Given the description of an element on the screen output the (x, y) to click on. 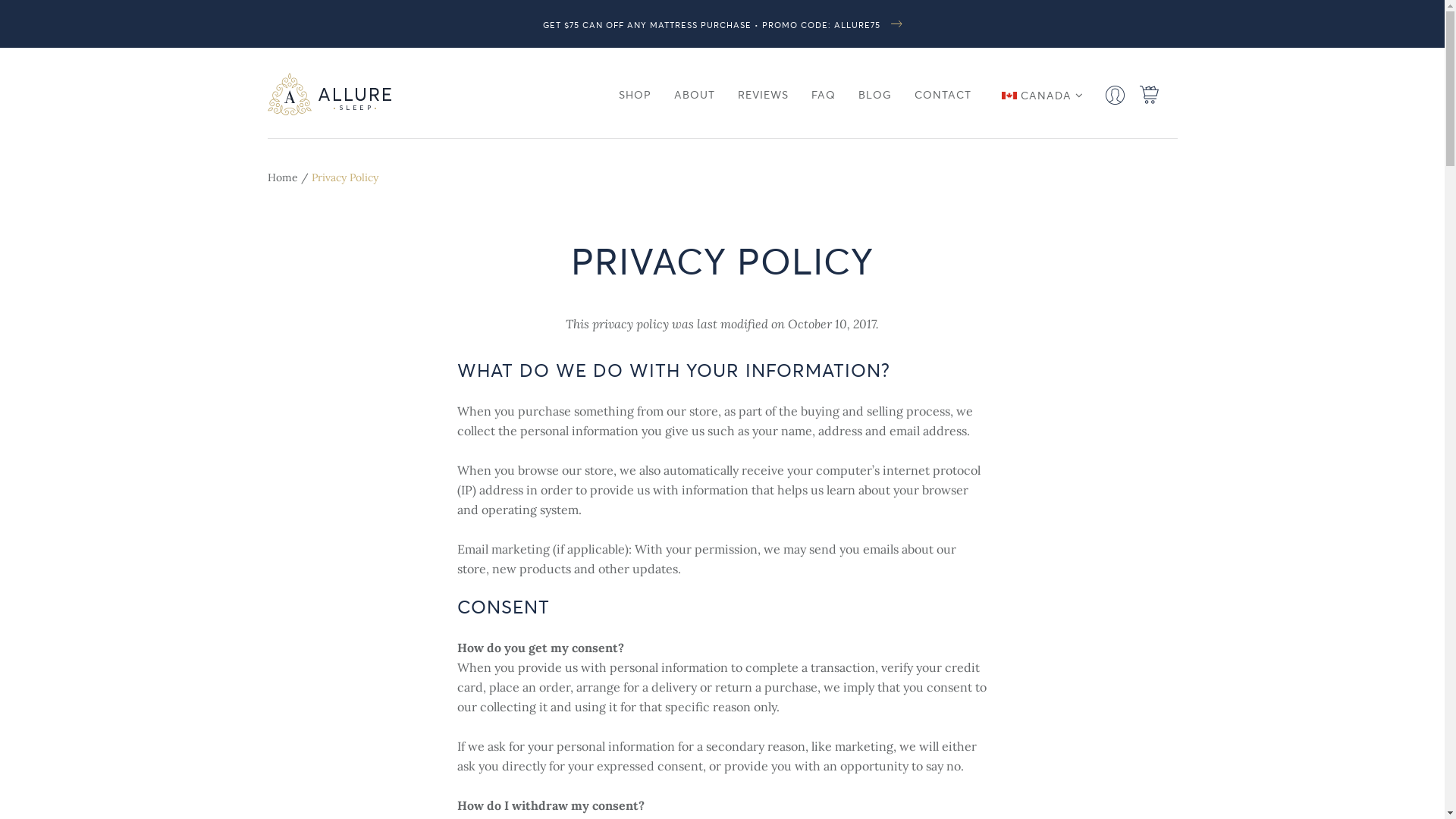
SHOP Element type: text (634, 94)
BLOG Element type: text (874, 94)
ABOUT Element type: text (693, 94)
CONTACT Element type: text (942, 94)
REVIEWS Element type: text (762, 94)
Home Element type: text (281, 177)
FAQ Element type: text (823, 94)
